Given the description of an element on the screen output the (x, y) to click on. 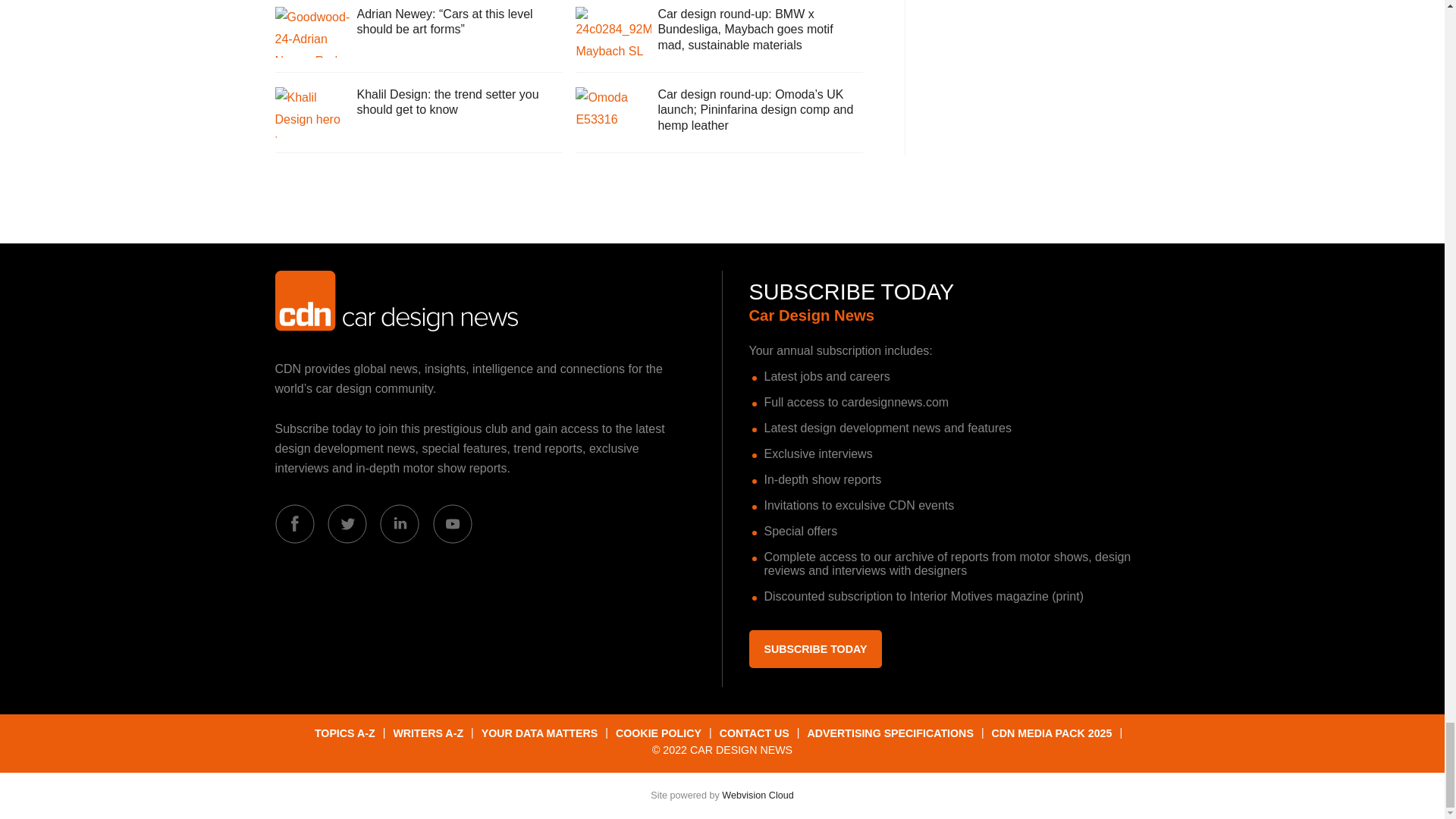
Connect with us on Youtube (451, 523)
Connect with us on Linked In (399, 523)
Connect with us on Facebook (294, 523)
footer-logo (395, 301)
Connect with us on Twitter (346, 523)
